Given the description of an element on the screen output the (x, y) to click on. 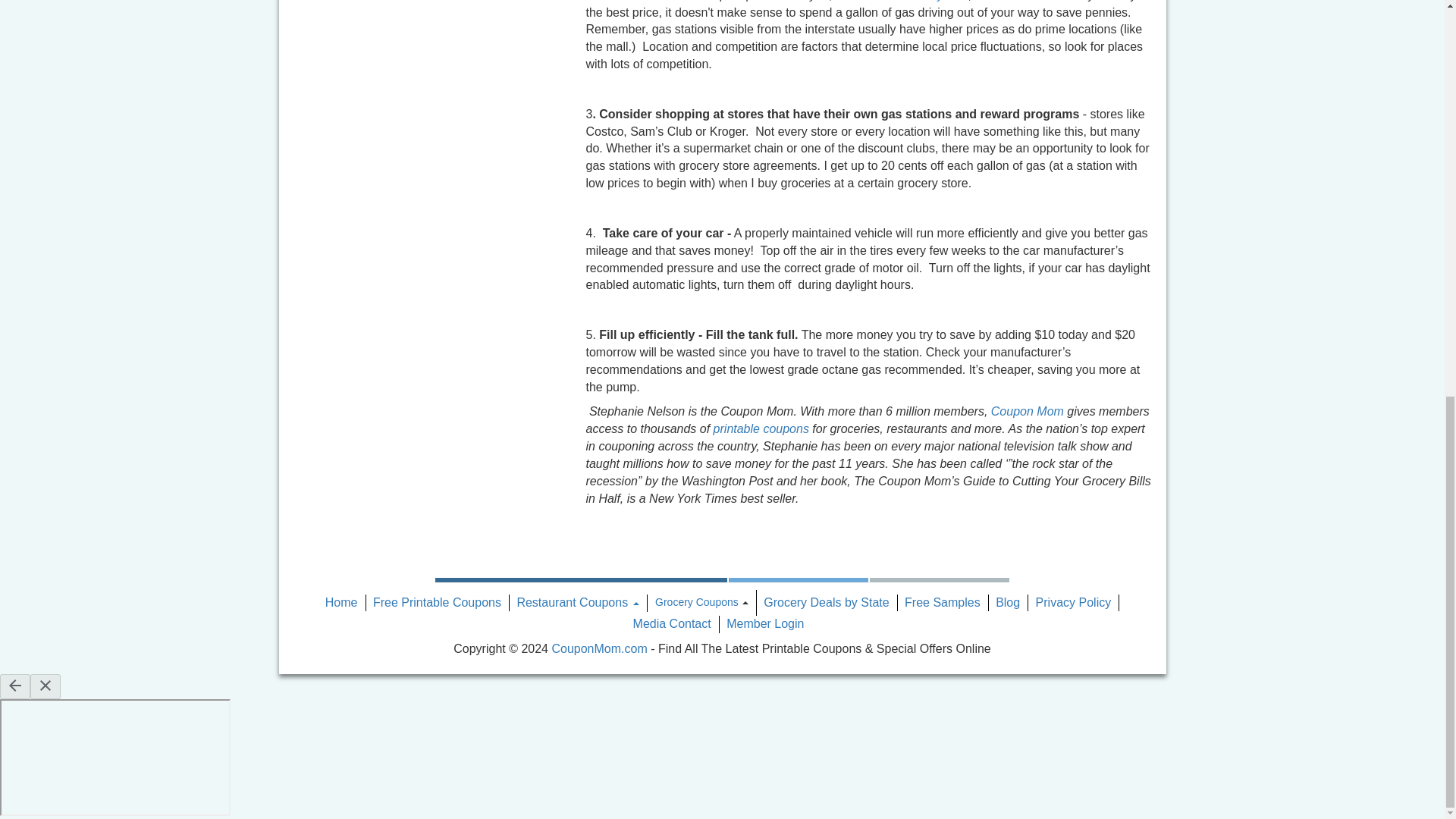
Advertisement (486, 79)
Advertisement (365, 79)
